Given the description of an element on the screen output the (x, y) to click on. 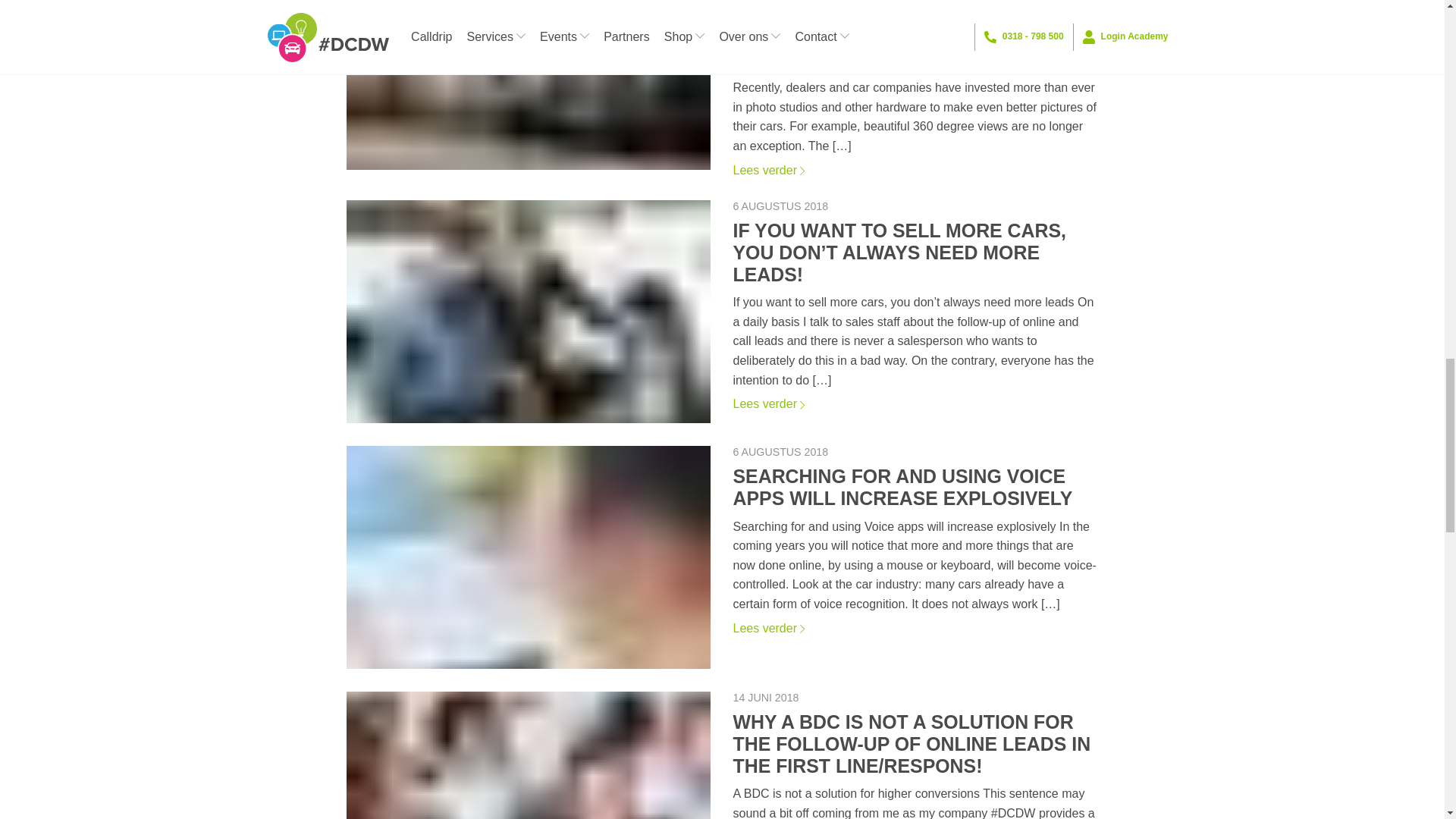
Lees verder (914, 404)
Lees verder (914, 170)
Lees verder (914, 628)
